Given the description of an element on the screen output the (x, y) to click on. 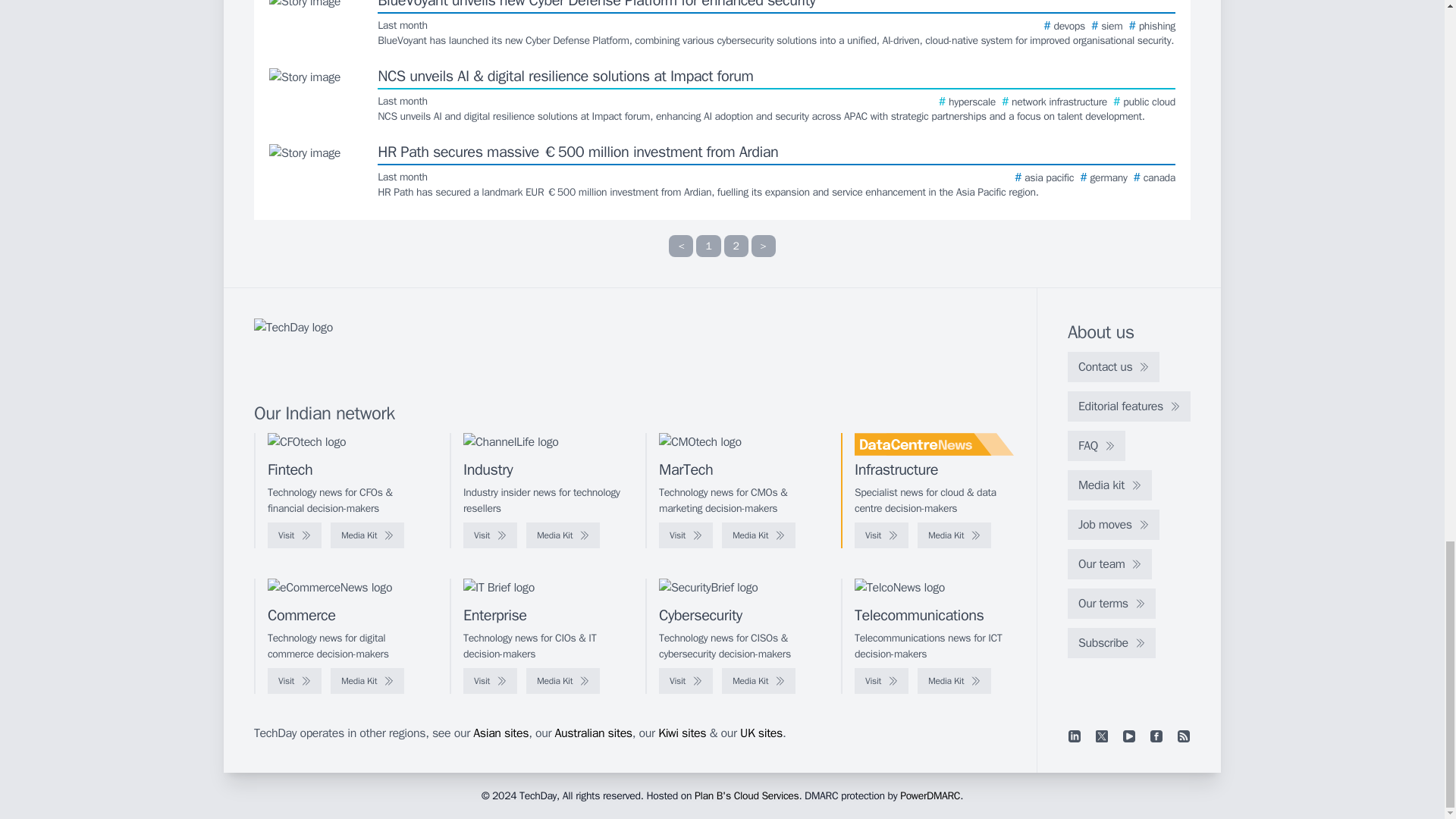
Media Kit (367, 534)
2 (735, 246)
Media Kit (562, 534)
Visit (489, 534)
1 (707, 246)
Visit (294, 534)
